Given the description of an element on the screen output the (x, y) to click on. 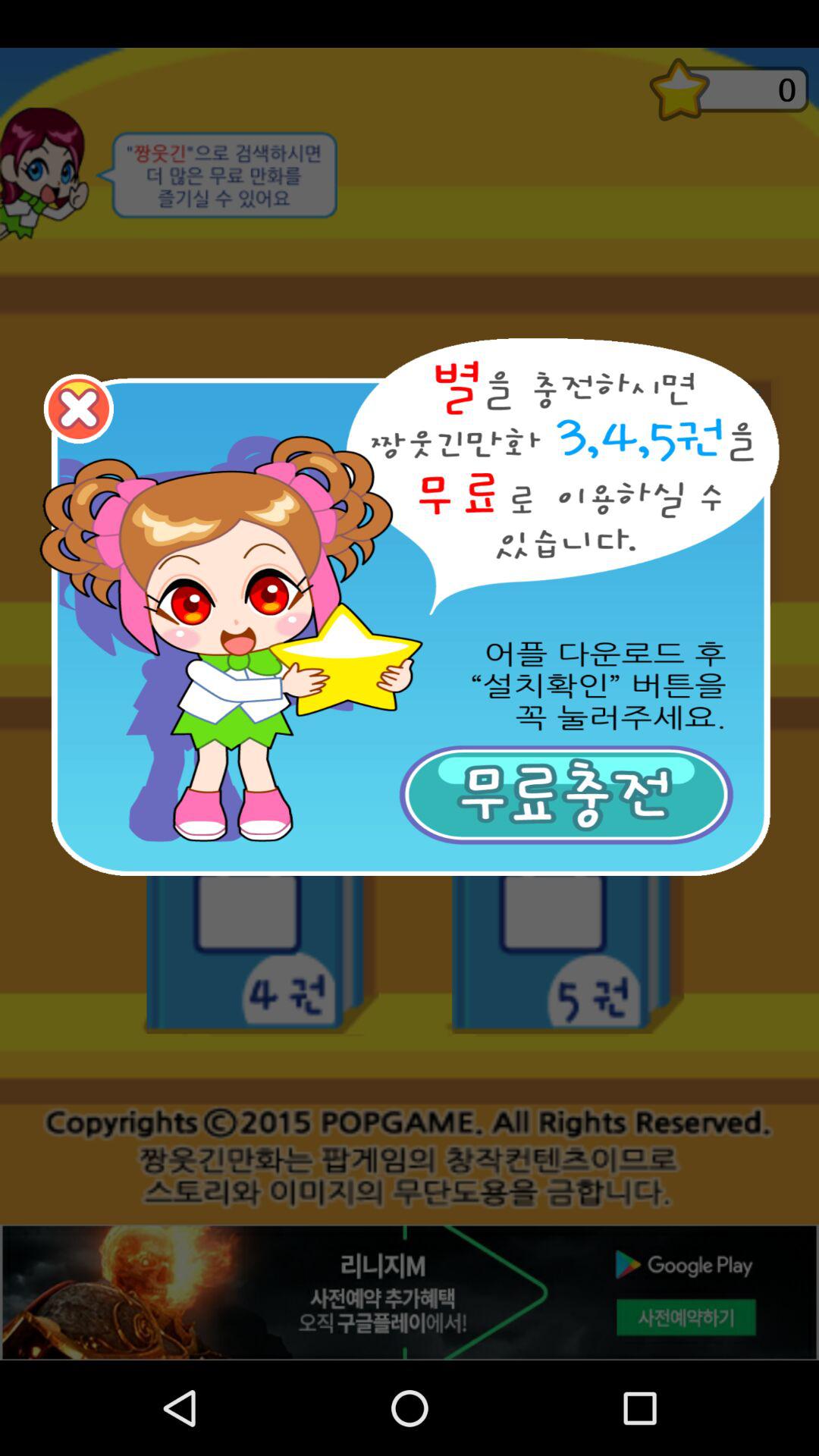
go back (78, 409)
